Given the description of an element on the screen output the (x, y) to click on. 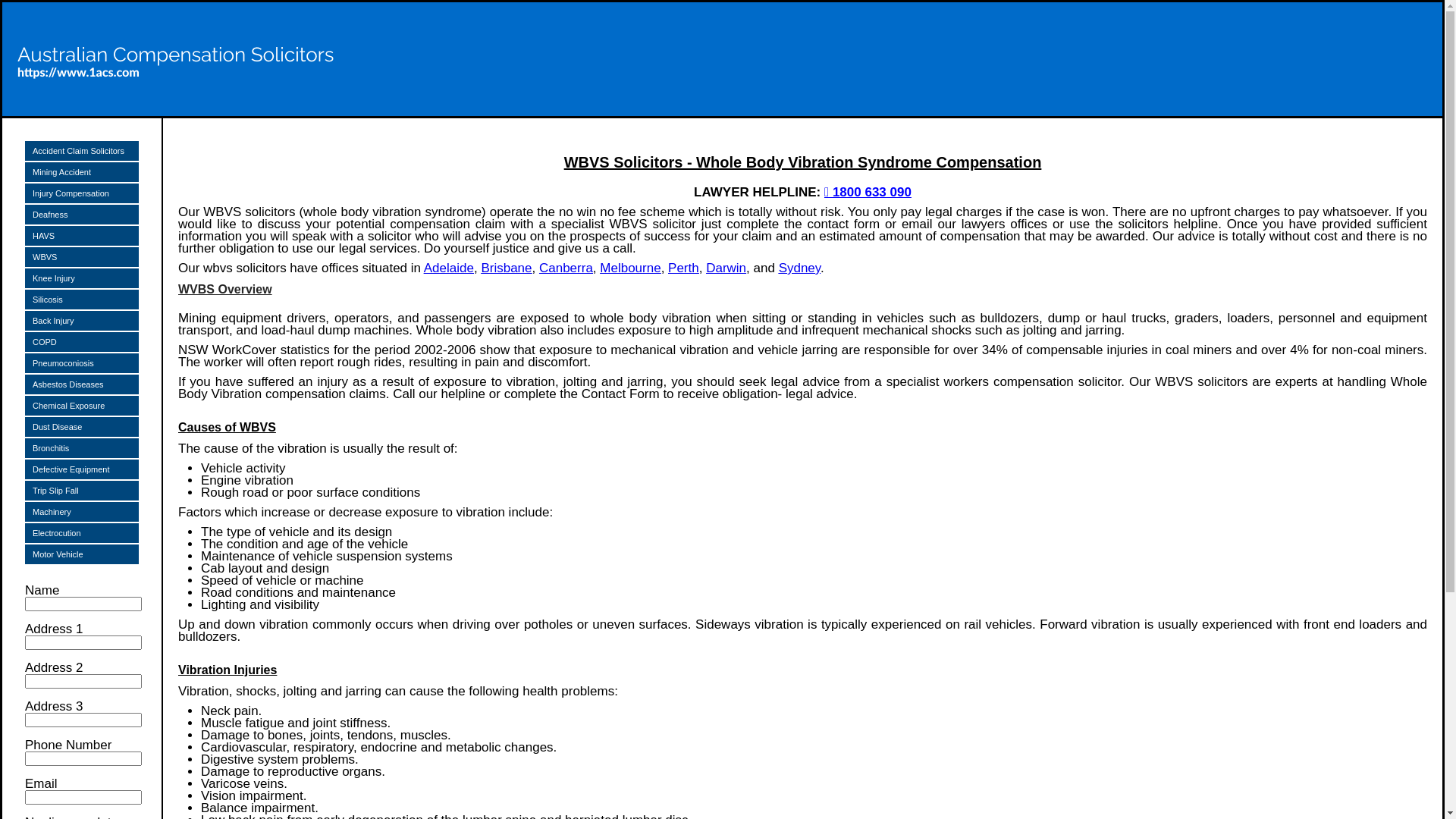
Chemical Exposure Element type: text (81, 405)
Back Injury Element type: text (81, 320)
Trip Slip Fall Element type: text (81, 490)
Melbourne Element type: text (629, 267)
COPD Element type: text (81, 341)
Adelaide Element type: text (448, 267)
Knee Injury Element type: text (81, 278)
WBVS Element type: text (81, 256)
Brisbane Element type: text (505, 267)
Canberra Element type: text (566, 267)
Injury Compensation Element type: text (81, 193)
Defective Equipment Element type: text (81, 469)
Asbestos Diseases Element type: text (81, 384)
Machinery Element type: text (81, 511)
Mining Accident Element type: text (81, 172)
Motor Vehicle Element type: text (81, 554)
Deafness Element type: text (81, 214)
Electrocution Element type: text (81, 532)
Pneumoconiosis Element type: text (81, 363)
Perth Element type: text (683, 267)
Sydney Element type: text (799, 267)
Silicosis Element type: text (81, 299)
Darwin Element type: text (726, 267)
HAVS Element type: text (81, 235)
Accident Claim Solicitors Element type: text (81, 150)
Dust Disease Element type: text (81, 426)
Bronchitis Element type: text (81, 448)
